Given the description of an element on the screen output the (x, y) to click on. 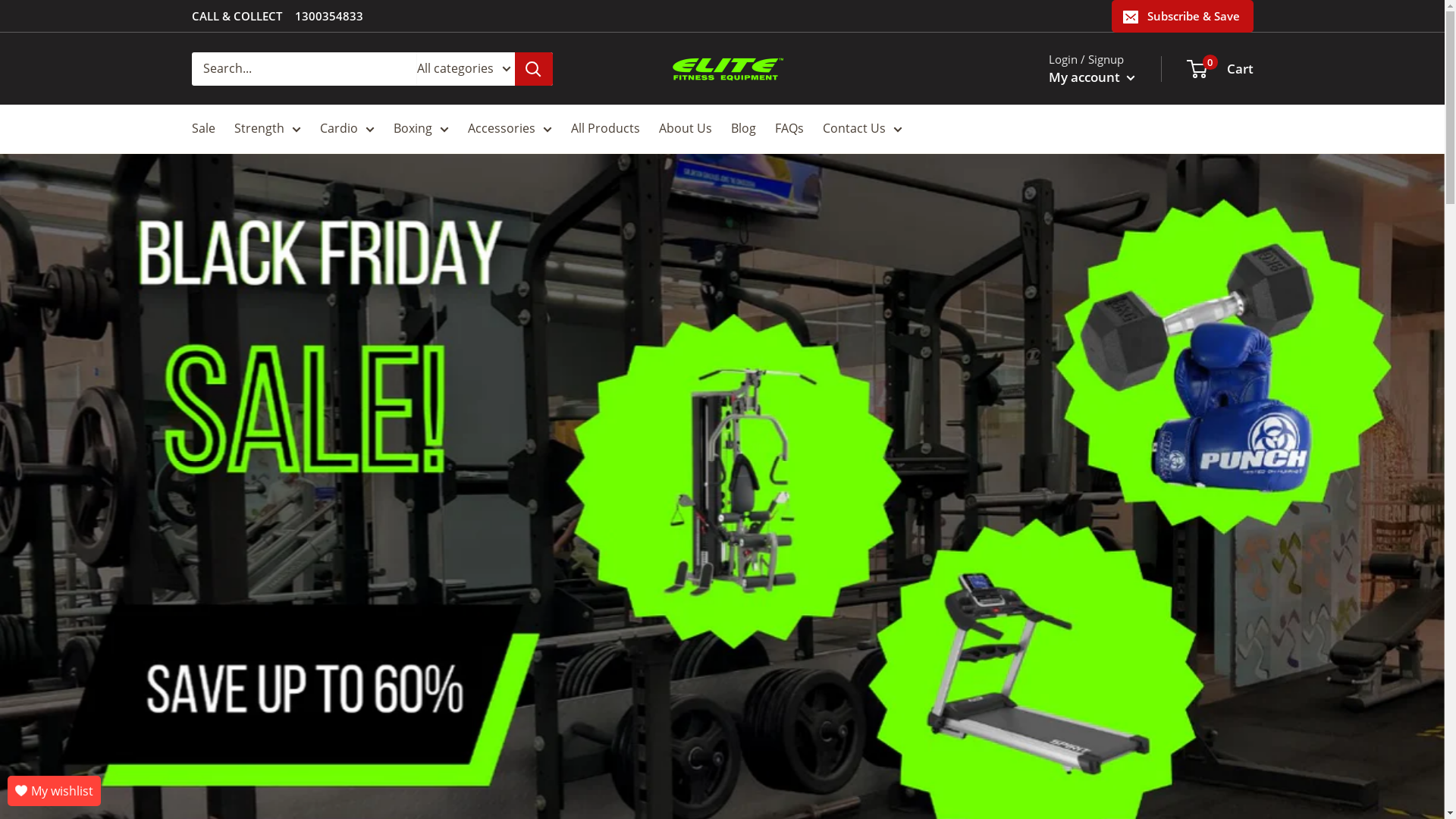
Sale Element type: text (202, 128)
My wishlist Element type: text (53, 790)
Accessories Element type: text (509, 128)
Elite Fitness Element type: text (727, 68)
Blog Element type: text (743, 128)
My account Element type: text (1091, 77)
About Us Element type: text (684, 128)
Contact Us Element type: text (861, 128)
Boxing Element type: text (420, 128)
FAQs Element type: text (789, 128)
0
Cart Element type: text (1219, 68)
All Products Element type: text (604, 128)
Subscribe & Save Element type: text (1182, 15)
Strength Element type: text (266, 128)
Cardio Element type: text (347, 128)
